Given the description of an element on the screen output the (x, y) to click on. 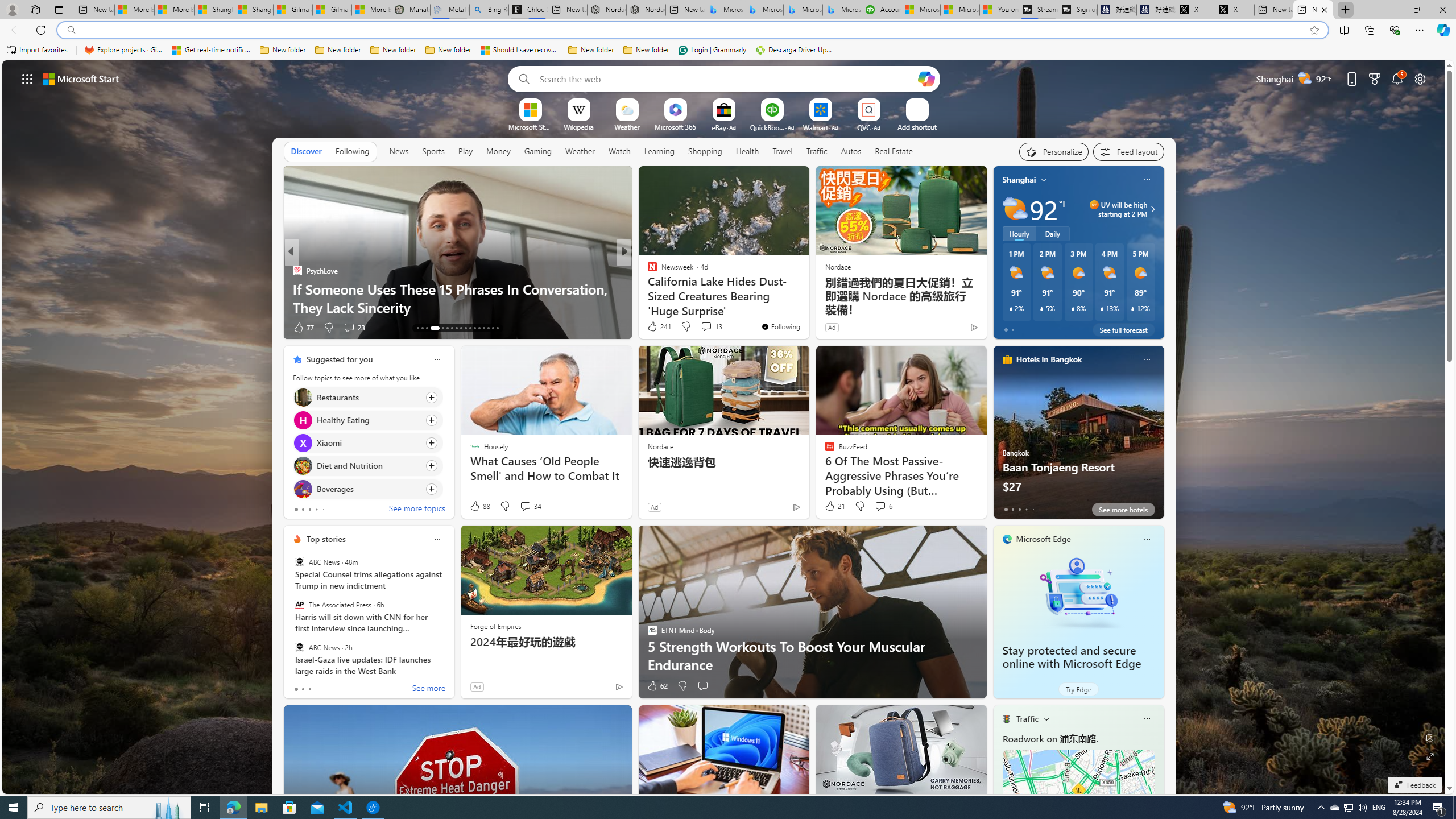
Traffic Title Traffic Light (1005, 718)
Diet and Nutrition (302, 466)
New folder (646, 49)
ETNT Mind+Body (647, 270)
Search icon (70, 29)
Click to follow topic Xiaomi (367, 442)
Class: weather-current-precipitation-glyph (1133, 308)
Edit Background (1430, 737)
Expand background (1430, 756)
